Given the description of an element on the screen output the (x, y) to click on. 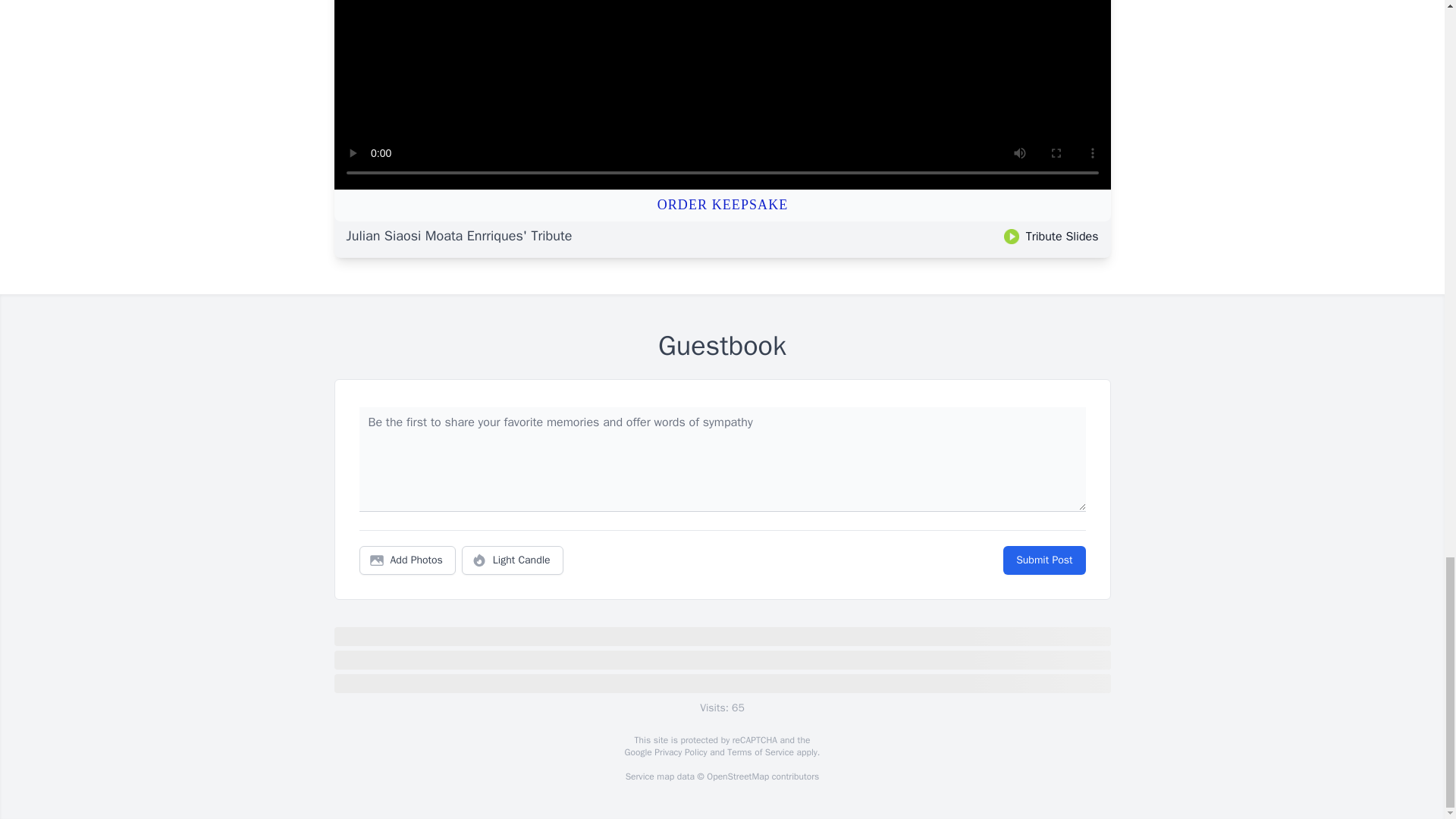
Add Photos (407, 560)
Light Candle (512, 560)
Submit Post (1043, 560)
Privacy Policy (679, 752)
Terms of Service (759, 752)
OpenStreetMap (737, 776)
